Given the description of an element on the screen output the (x, y) to click on. 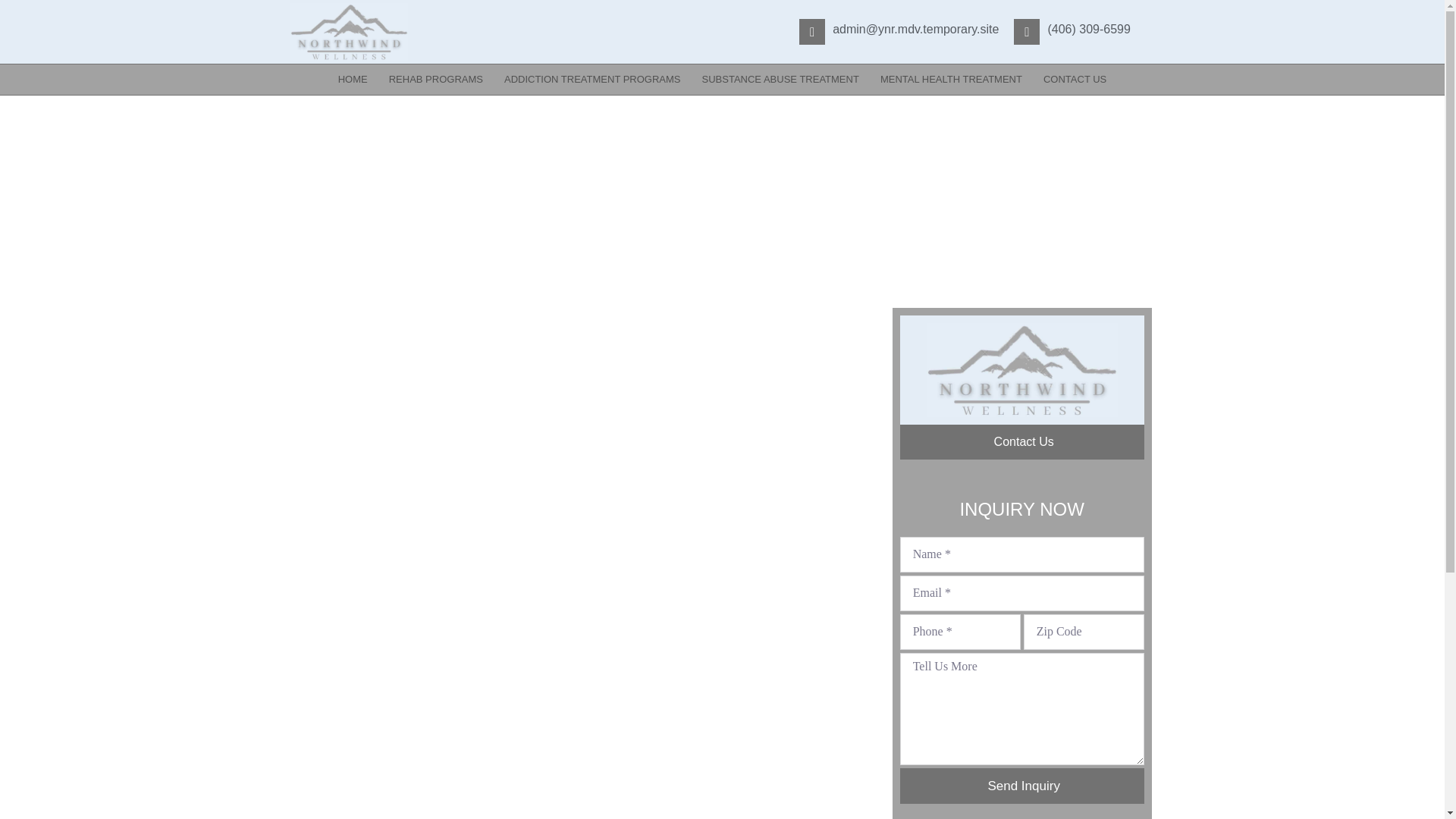
HOME (352, 79)
MENTAL HEALTH TREATMENT (950, 79)
ADDICTION TREATMENT PROGRAMS (592, 79)
SUBSTANCE ABUSE TREATMENT (780, 79)
REHAB PROGRAMS (435, 79)
CONTACT US (1074, 79)
